Given the description of an element on the screen output the (x, y) to click on. 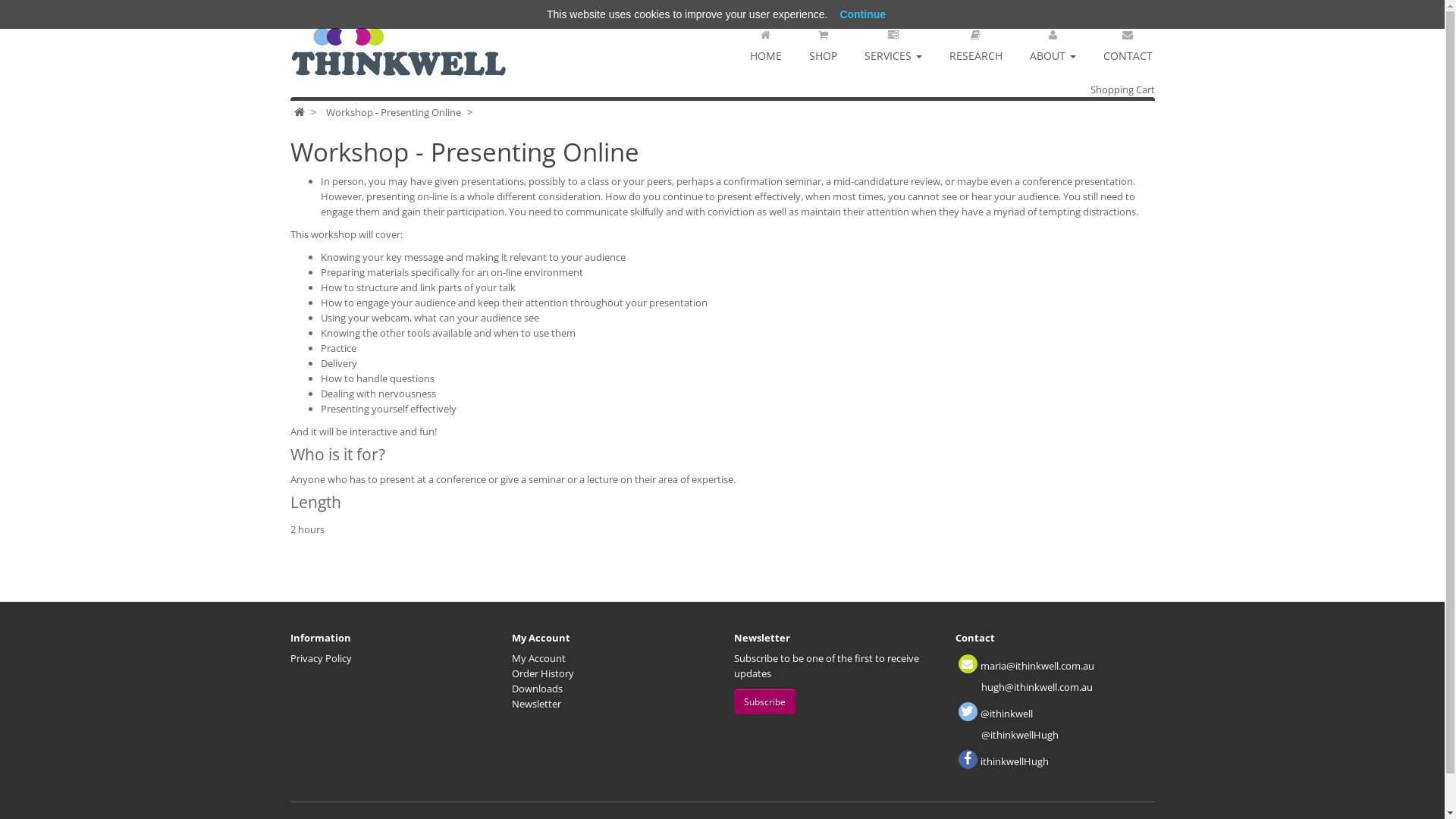
Privacy Policy Element type: text (320, 658)
@ithinkwell Element type: text (1006, 713)
ithinkwellHugh Element type: text (1014, 761)
Newsletter Element type: text (536, 703)
@ithinkwellHugh Element type: text (1019, 734)
Shopping Cart Element type: text (1122, 89)
Downloads Element type: text (536, 688)
Workshop - Presenting Online Element type: text (393, 112)
maria@ithinkwell.com.au Element type: text (1037, 665)
ThinkWell Element type: hover (400, 53)
SERVICES Element type: text (892, 40)
CONTACT Element type: text (1126, 40)
Order History Element type: text (542, 673)
Subscribe Element type: text (764, 701)
Continue Element type: text (862, 14)
HOME Element type: text (764, 40)
RESEARCH Element type: text (975, 40)
My Account Element type: text (538, 658)
hugh@ithinkwell.com.au Element type: text (1036, 686)
ABOUT Element type: text (1052, 40)
SHOP Element type: text (822, 40)
